Given the description of an element on the screen output the (x, y) to click on. 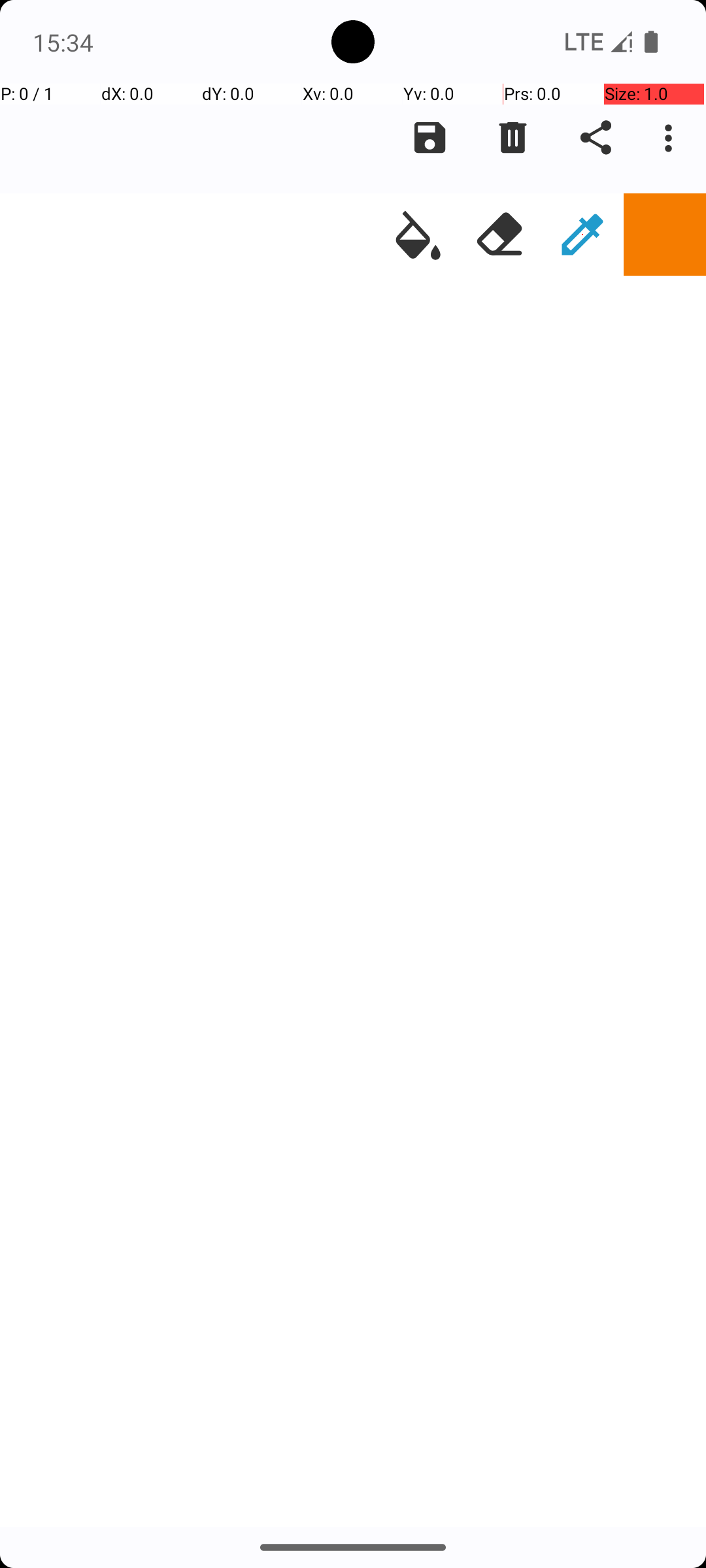
Clear Element type: android.widget.Button (512, 137)
Bucket fill Element type: android.widget.ImageView (417, 234)
Eraser Element type: android.widget.ImageView (499, 234)
Eyedropper Element type: android.widget.ImageView (582, 234)
Change color Element type: android.widget.ImageView (664, 234)
